Given the description of an element on the screen output the (x, y) to click on. 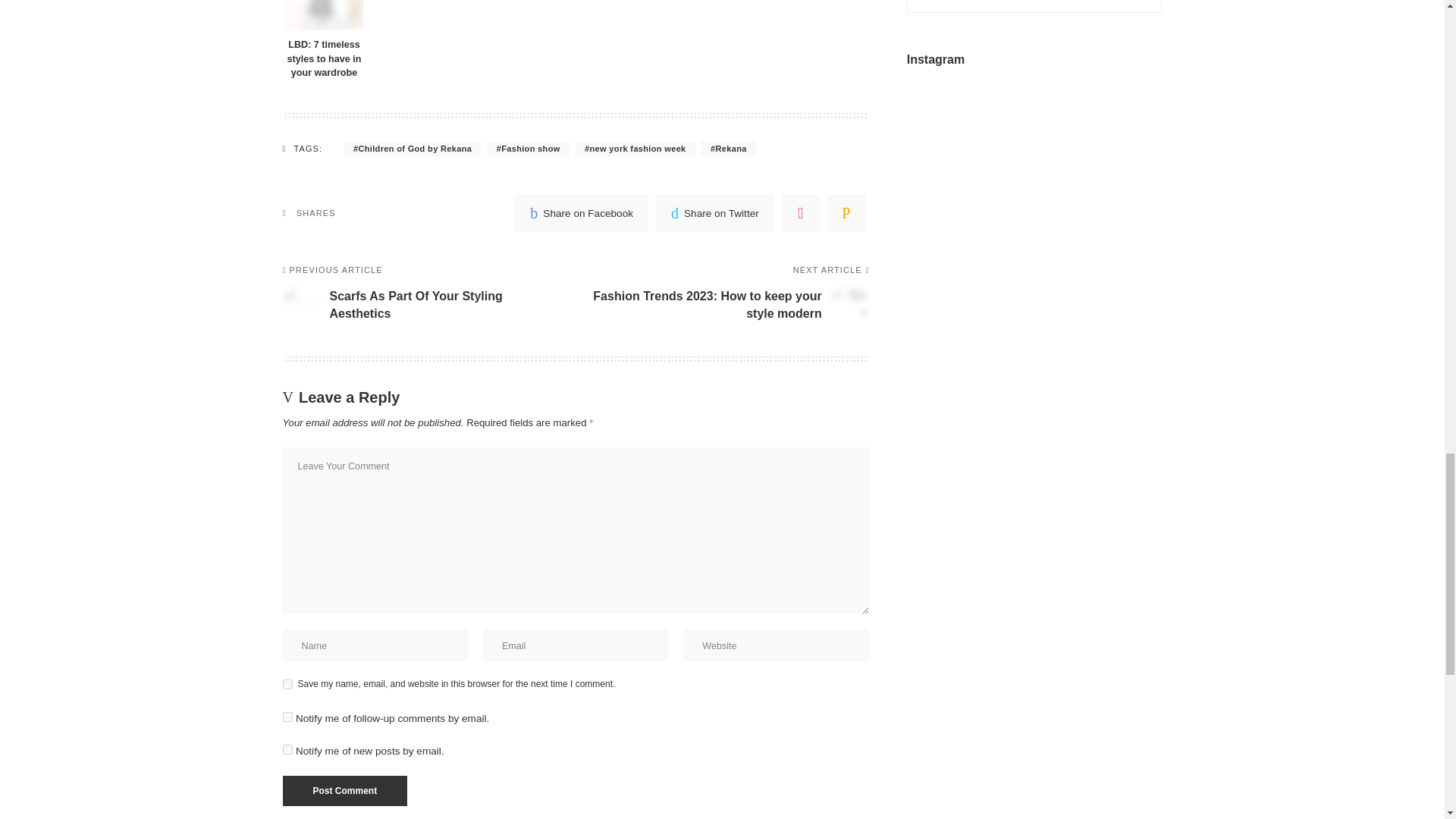
subscribe (287, 749)
Post Comment (344, 790)
yes (287, 684)
subscribe (287, 716)
